Given the description of an element on the screen output the (x, y) to click on. 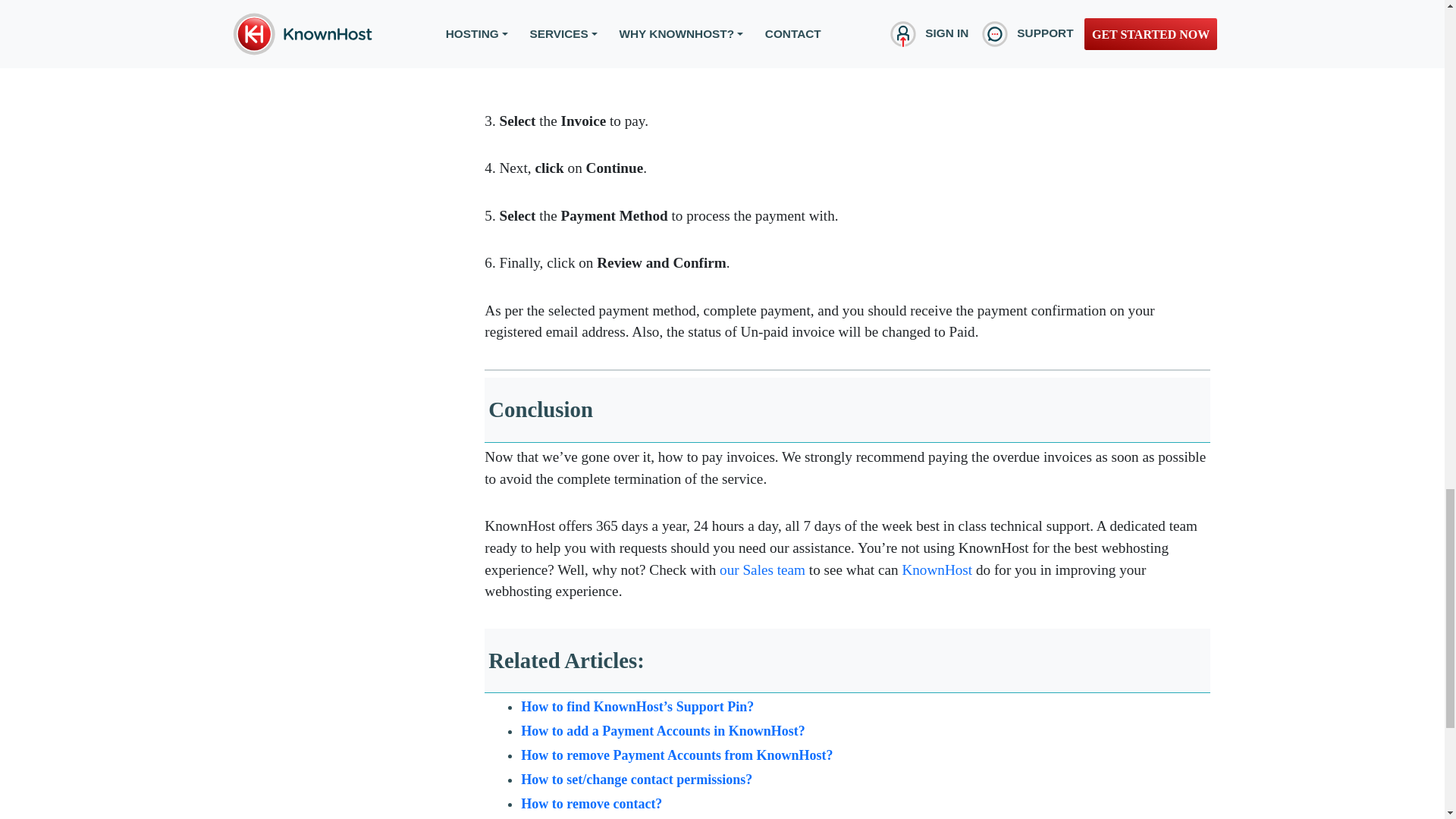
How to add a Payment Accounts in KnownHost? (663, 730)
How to remove contact? (591, 803)
How to remove Payment Accounts from KnownHost? (676, 754)
